Given the description of an element on the screen output the (x, y) to click on. 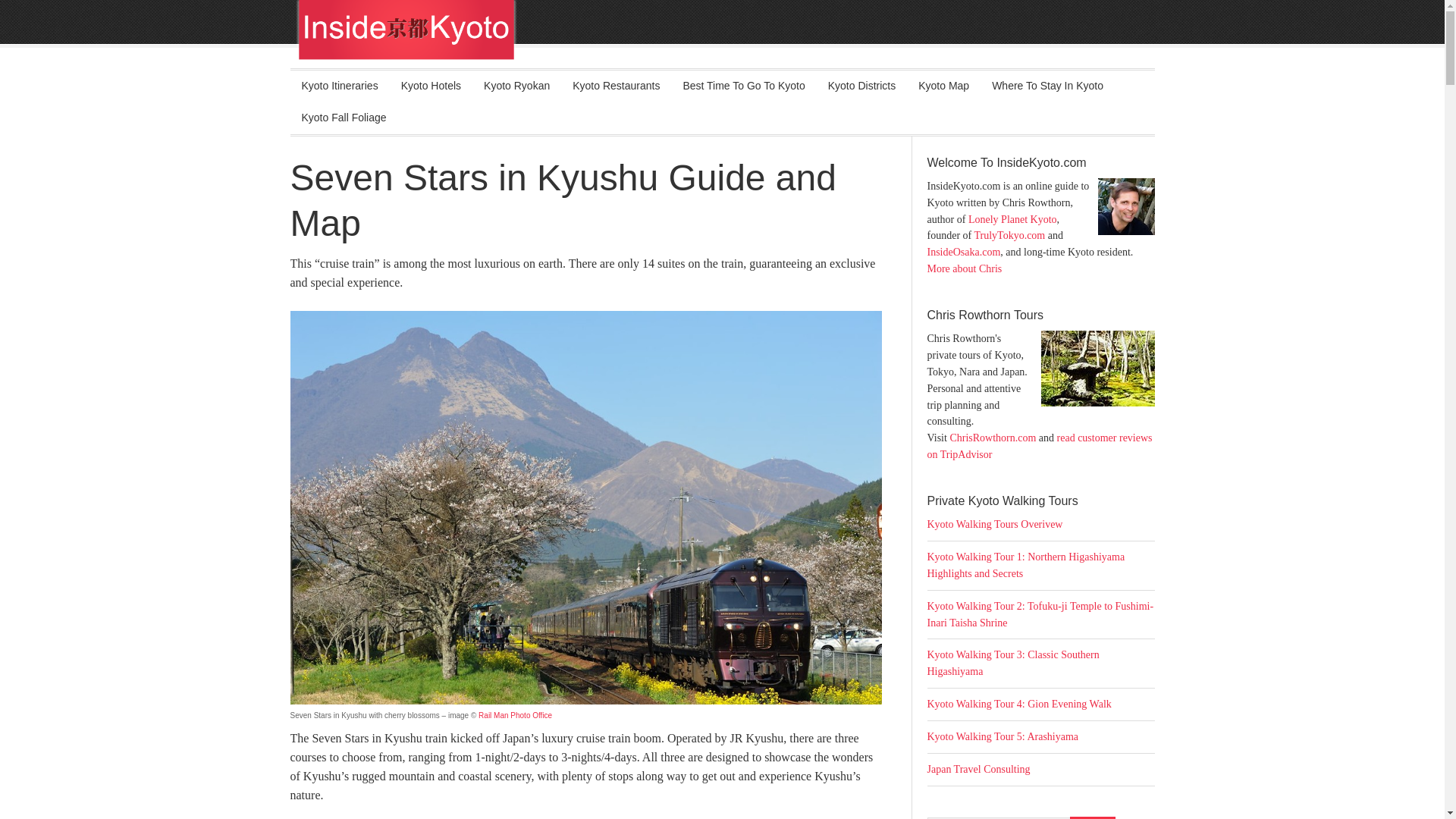
Kyoto Restaurants (615, 86)
Kyoto Ryokan (515, 86)
Kyoto Restaurants (615, 86)
Kyoto Map (943, 86)
Kyoto Hotels (430, 86)
Rail Man Photo Office (515, 715)
Inside Kyoto (745, 42)
Kyoto Districts (861, 86)
Search (1091, 817)
Kyoto Itineraries (338, 86)
Kyoto Map (943, 86)
Best Time To Go To Kyoto (743, 86)
Kyoto Hotels (430, 86)
Search (1091, 817)
